Given the description of an element on the screen output the (x, y) to click on. 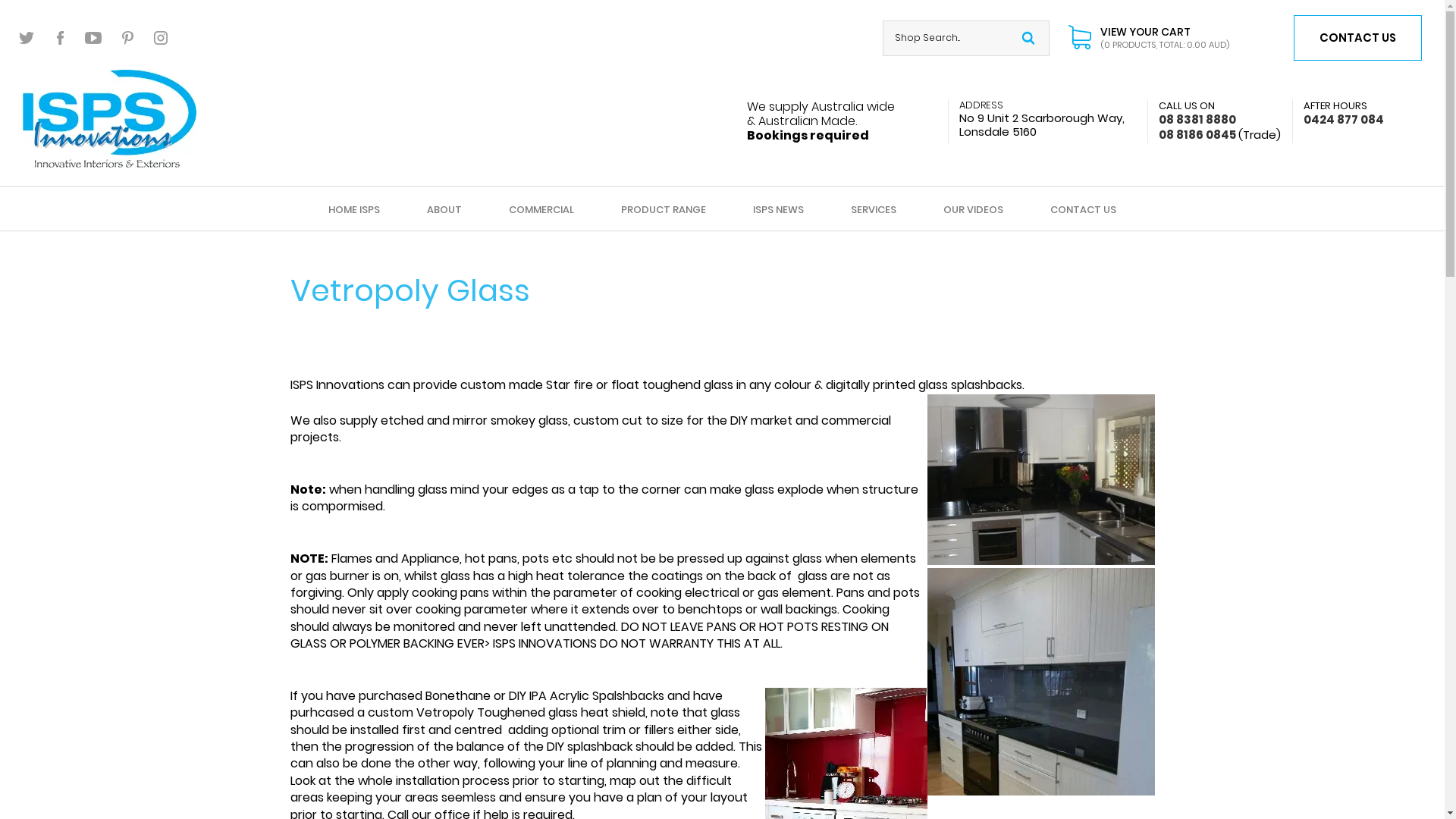
HOME ISPS Element type: text (353, 209)
instagram Element type: text (160, 37)
twitter Element type: text (27, 37)
08 8186 0845 (Trade) Element type: text (1213, 134)
CONTACT US Element type: text (1357, 37)
SERVICES Element type: text (873, 209)
search Element type: hover (1028, 37)
pinterest Element type: text (127, 37)
PRODUCT RANGE Element type: text (663, 209)
CONTACT US Element type: text (1083, 209)
AFTER HOURS
0424 877 084 Element type: text (1337, 112)
facebook Element type: text (60, 37)
youtube Element type: text (93, 37)
ISPS NEWS Element type: text (778, 209)
ABOUT Element type: text (444, 209)
CALL US ON
08 8381 8880 Element type: text (1191, 112)
VIEW YOUR CART
(0 PRODUCTS, TOTAL: 0.00 AUD) Element type: text (1148, 37)
ISPS Innovations Element type: hover (109, 117)
COMMERCIAL Element type: text (541, 209)
OUR VIDEOS Element type: text (973, 209)
